Given the description of an element on the screen output the (x, y) to click on. 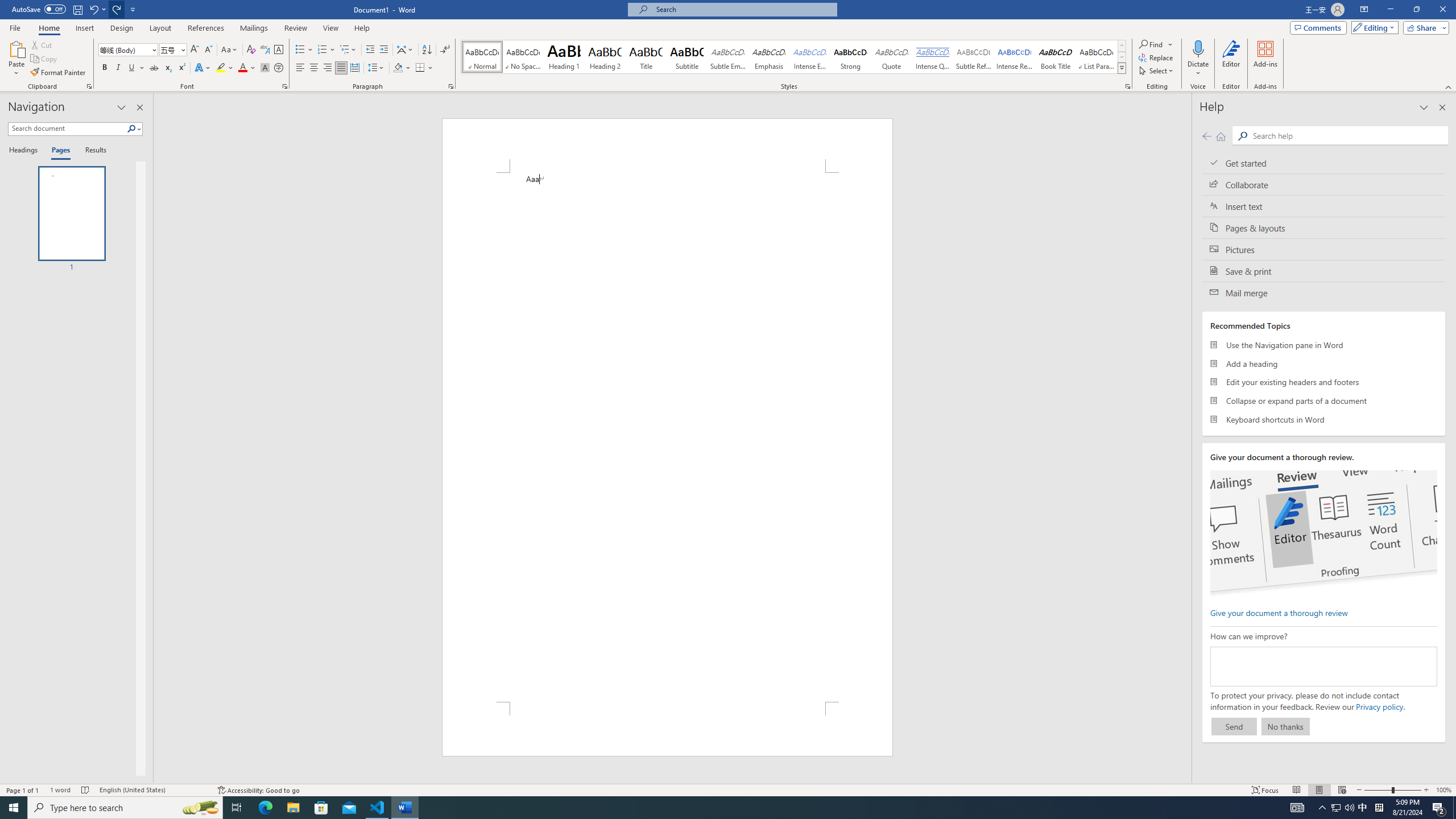
Font Color Red (241, 67)
Clear Formatting (250, 49)
Open (182, 49)
Headings (25, 150)
Zoom (1392, 790)
Subtle Emphasis (727, 56)
Asian Layout (405, 49)
Find (1155, 44)
Sort... (426, 49)
